Given the description of an element on the screen output the (x, y) to click on. 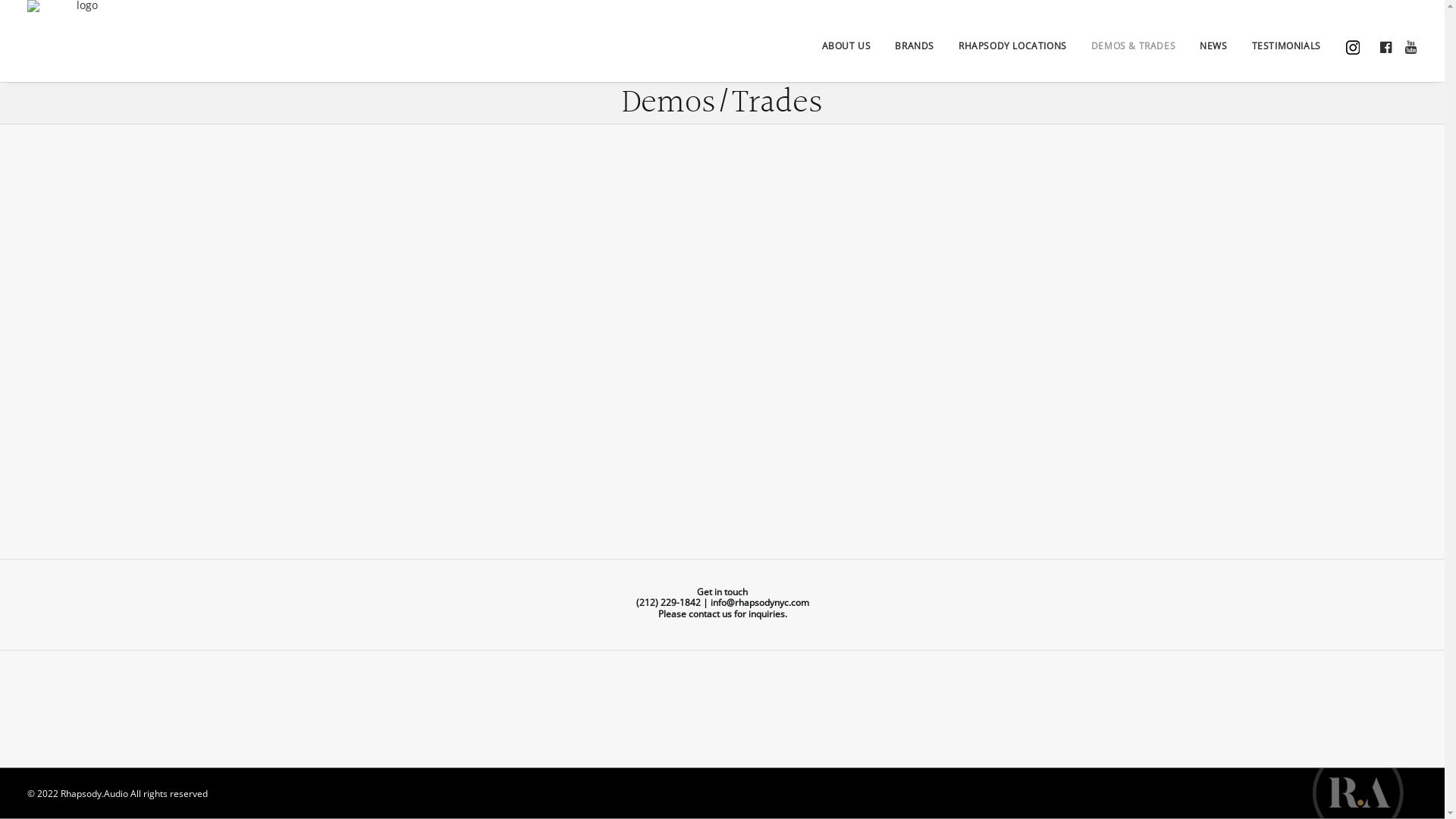
BRANDS Element type: text (914, 44)
DEMOS & TRADES Element type: text (1133, 44)
NEWS Element type: text (1213, 44)
RHAPSODY LOCATIONS Element type: text (1012, 44)
ABOUT US Element type: text (846, 44)
TESTIMONIALS Element type: text (1286, 44)
Instagram Element type: hover (1347, 40)
